Given the description of an element on the screen output the (x, y) to click on. 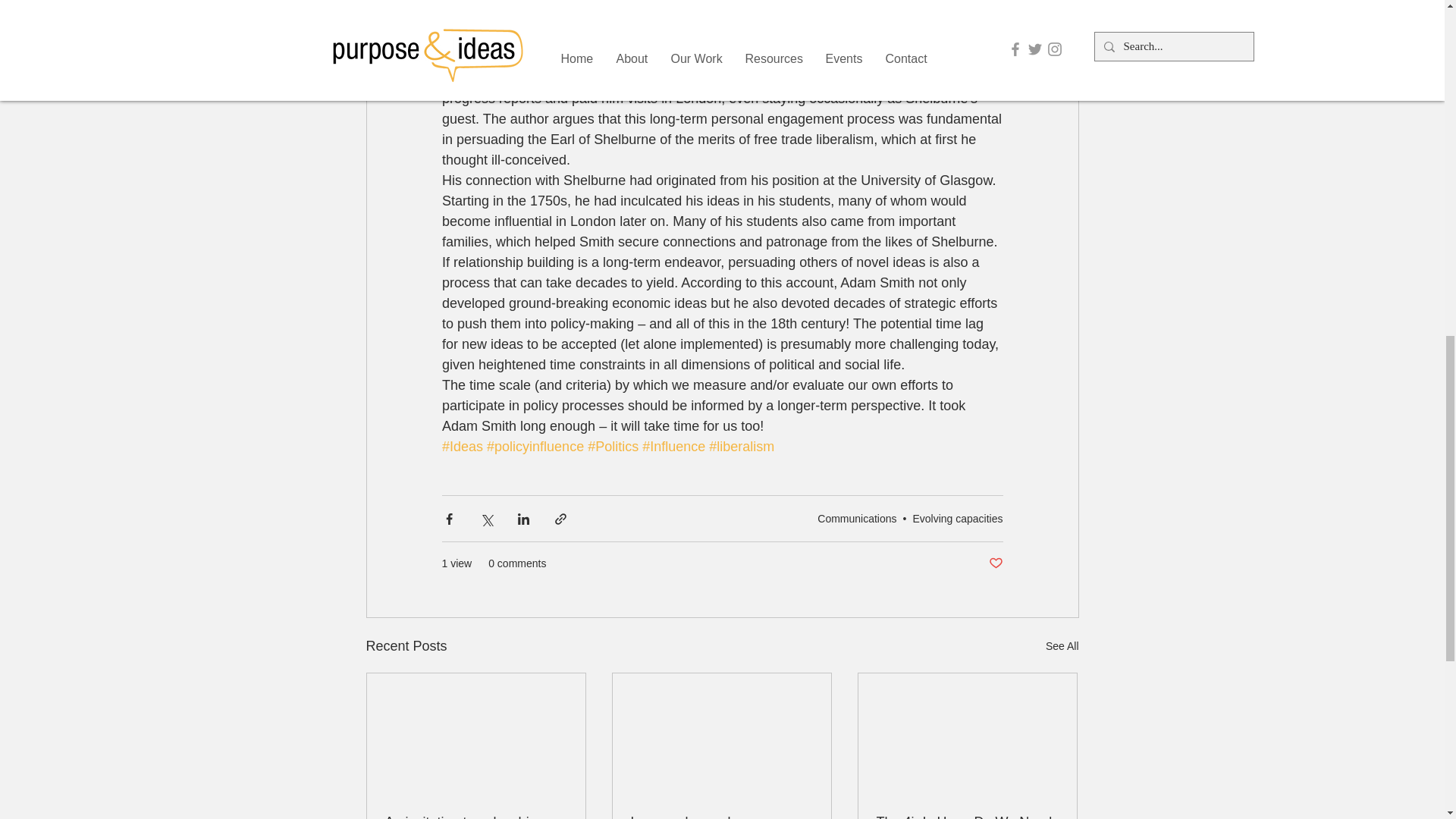
Communications (856, 518)
Evolving capacities (957, 518)
Post not marked as liked (995, 563)
See All (1061, 646)
